Given the description of an element on the screen output the (x, y) to click on. 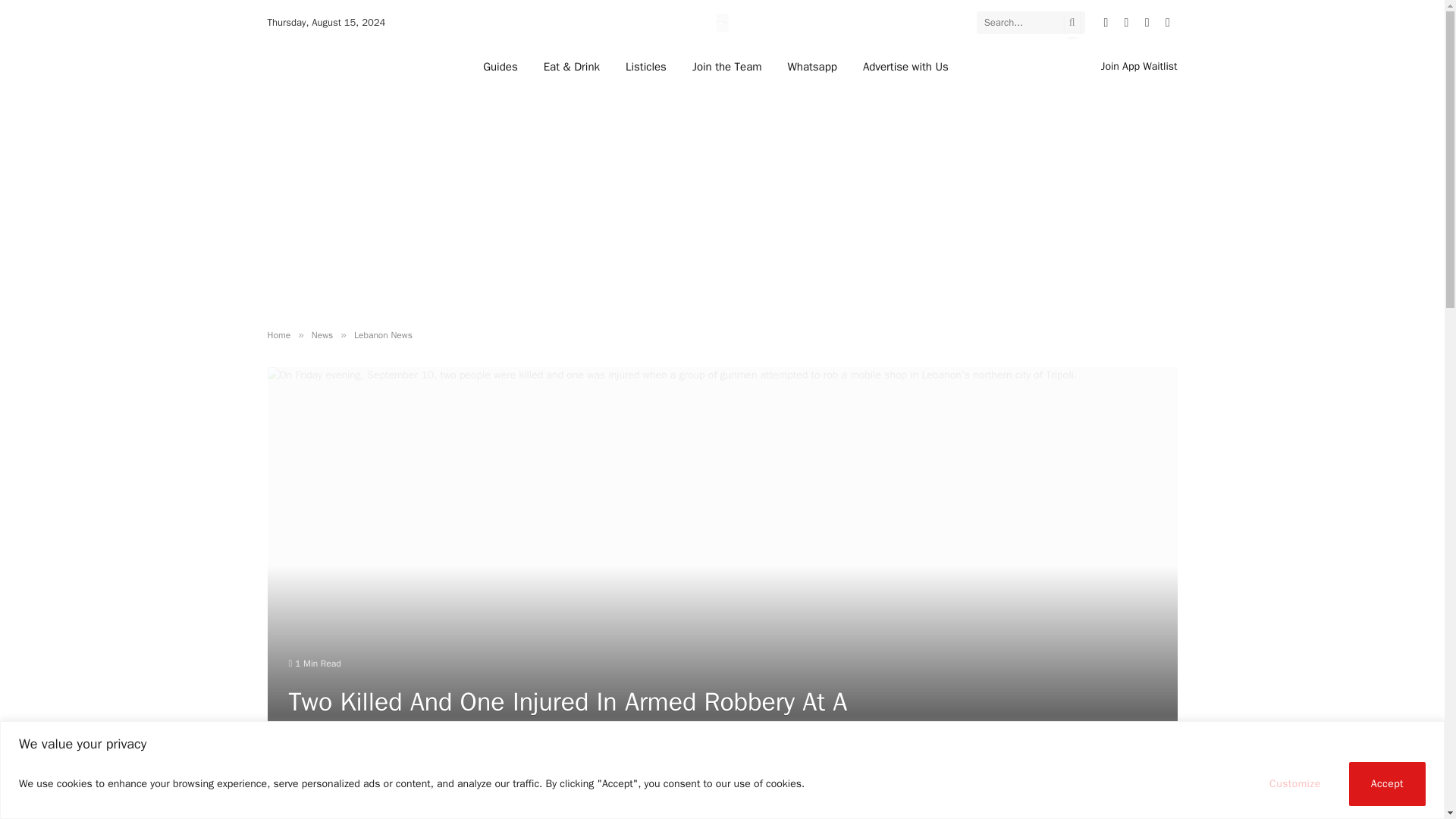
Lebanon News (382, 335)
Home (277, 335)
Accept (1387, 783)
Customize (1294, 783)
Advertise with Us (905, 65)
Salman Fayad (328, 774)
Listicles (645, 65)
Posts by Salman Fayad (328, 774)
